Given the description of an element on the screen output the (x, y) to click on. 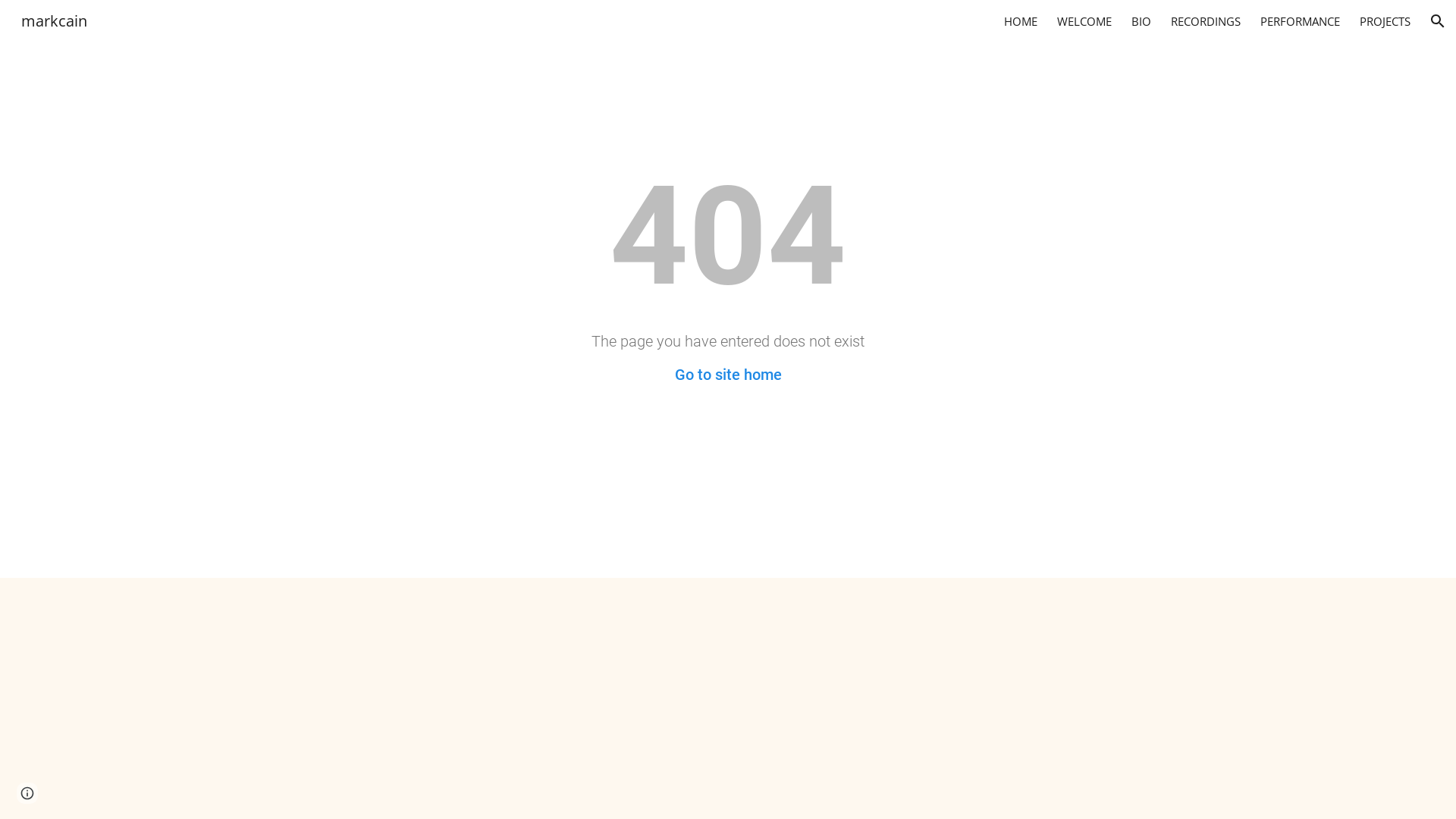
BIO Element type: text (1141, 20)
Go to site home Element type: text (727, 374)
WELCOME Element type: text (1084, 20)
markcain Element type: text (54, 19)
RECORDINGS Element type: text (1205, 20)
PROJECTS Element type: text (1384, 20)
PERFORMANCE Element type: text (1299, 20)
HOME Element type: text (1020, 20)
